Given the description of an element on the screen output the (x, y) to click on. 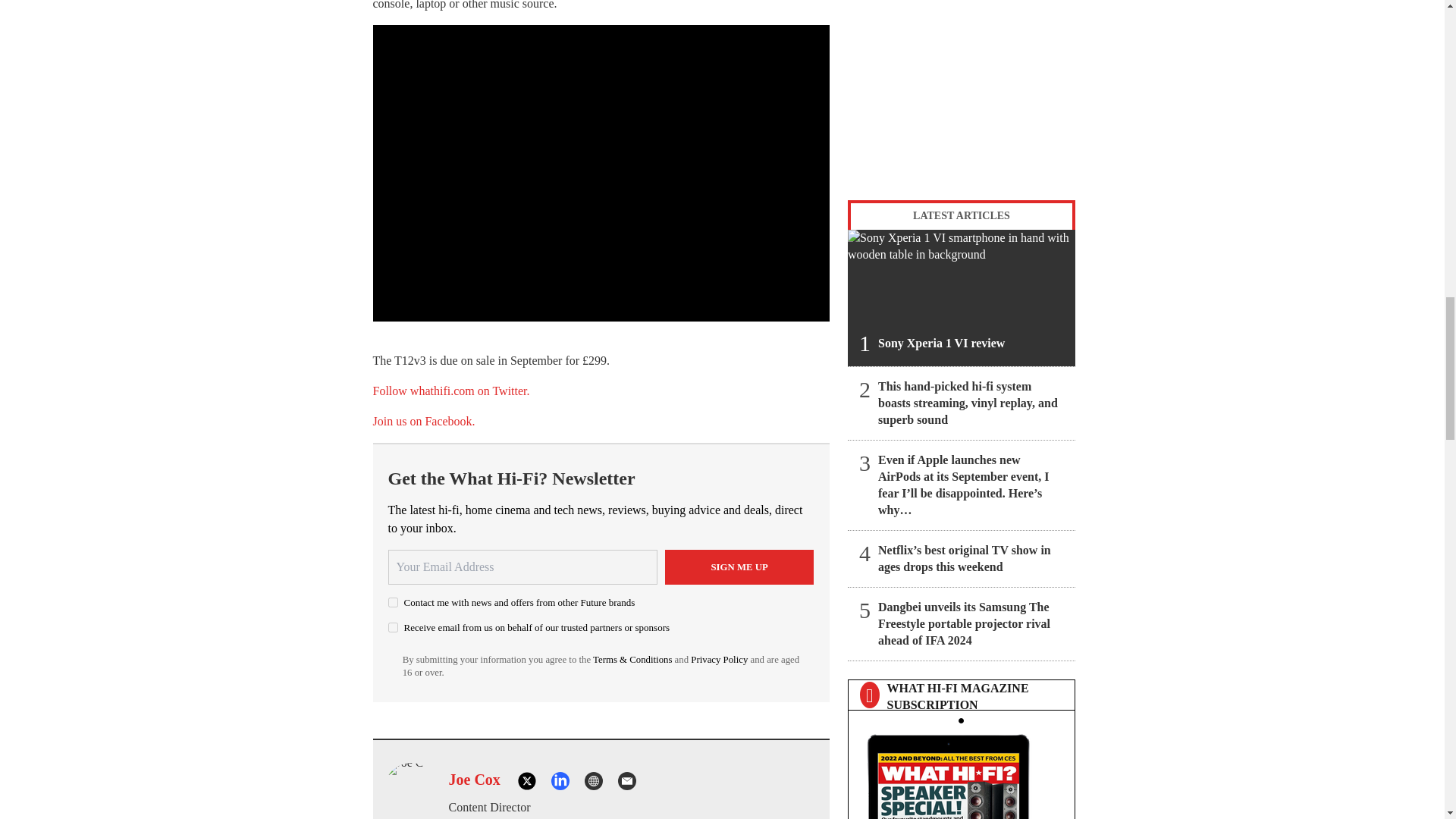
Sign me up (739, 566)
Sony Xperia 1 VI review (961, 298)
on (392, 627)
on (392, 602)
What Hi-Fi Magazine... (960, 772)
